Given the description of an element on the screen output the (x, y) to click on. 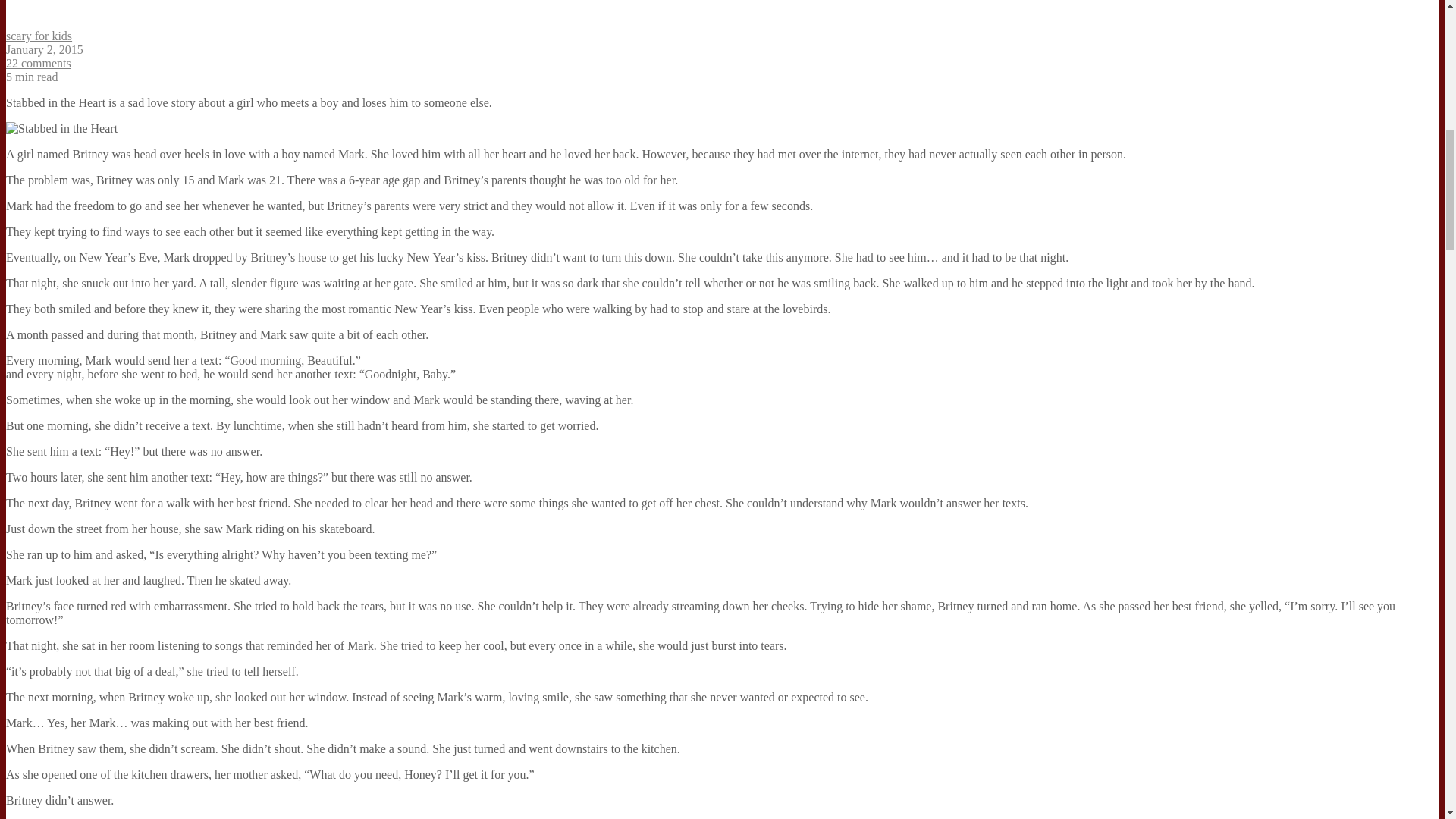
Stabbed in the Heart (61, 128)
22 comments (38, 62)
scary for kids (38, 35)
